Given the description of an element on the screen output the (x, y) to click on. 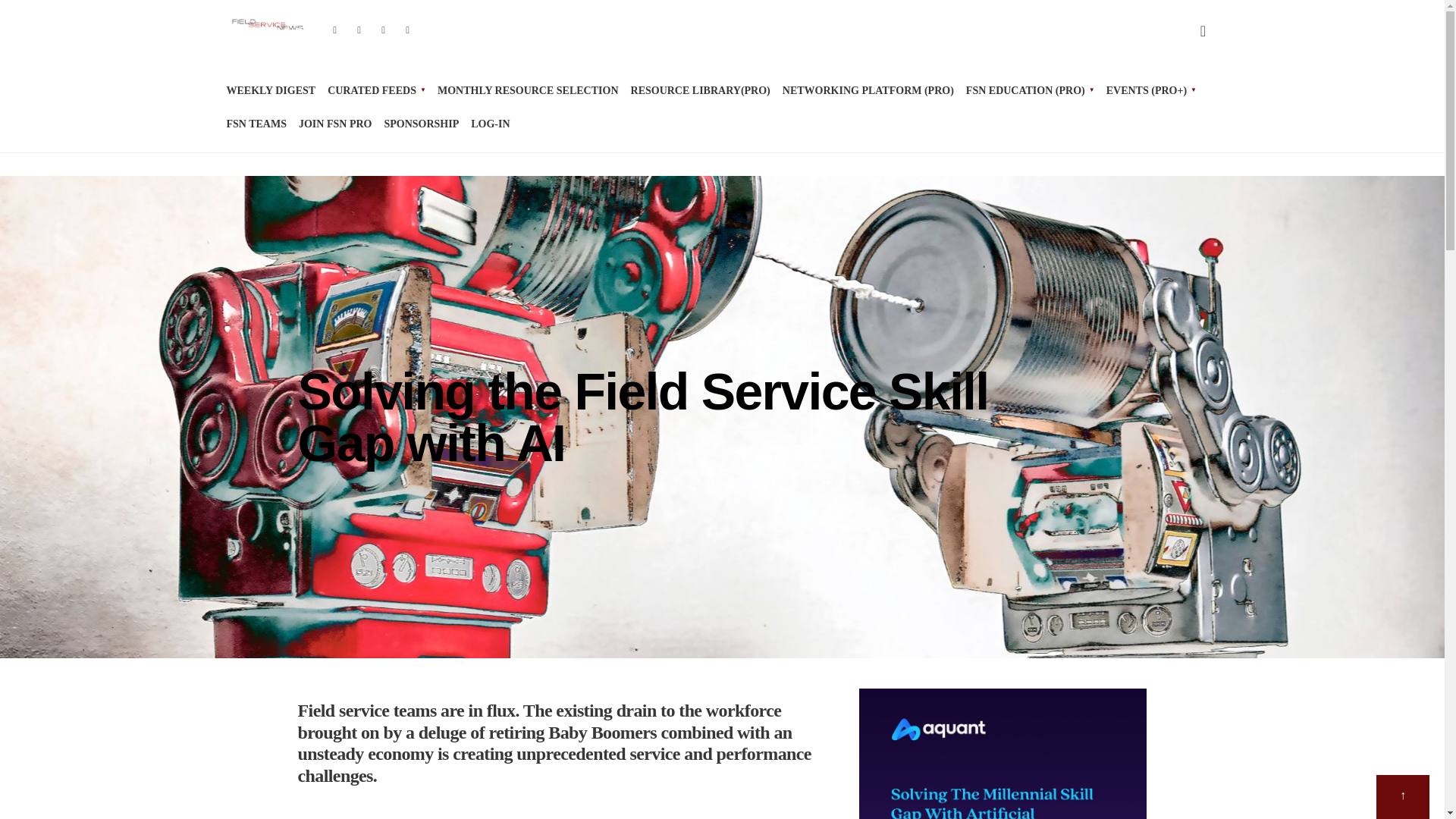
LinkedIn (408, 30)
Page 1 (570, 806)
SPONSORSHIP (421, 123)
Page 3 (570, 806)
WEEKLY DIGEST (270, 90)
JOIN FSN PRO (334, 123)
MONTHLY RESOURCE SELECTION (528, 90)
LOG-IN (489, 123)
Twitter (359, 30)
